Given the description of an element on the screen output the (x, y) to click on. 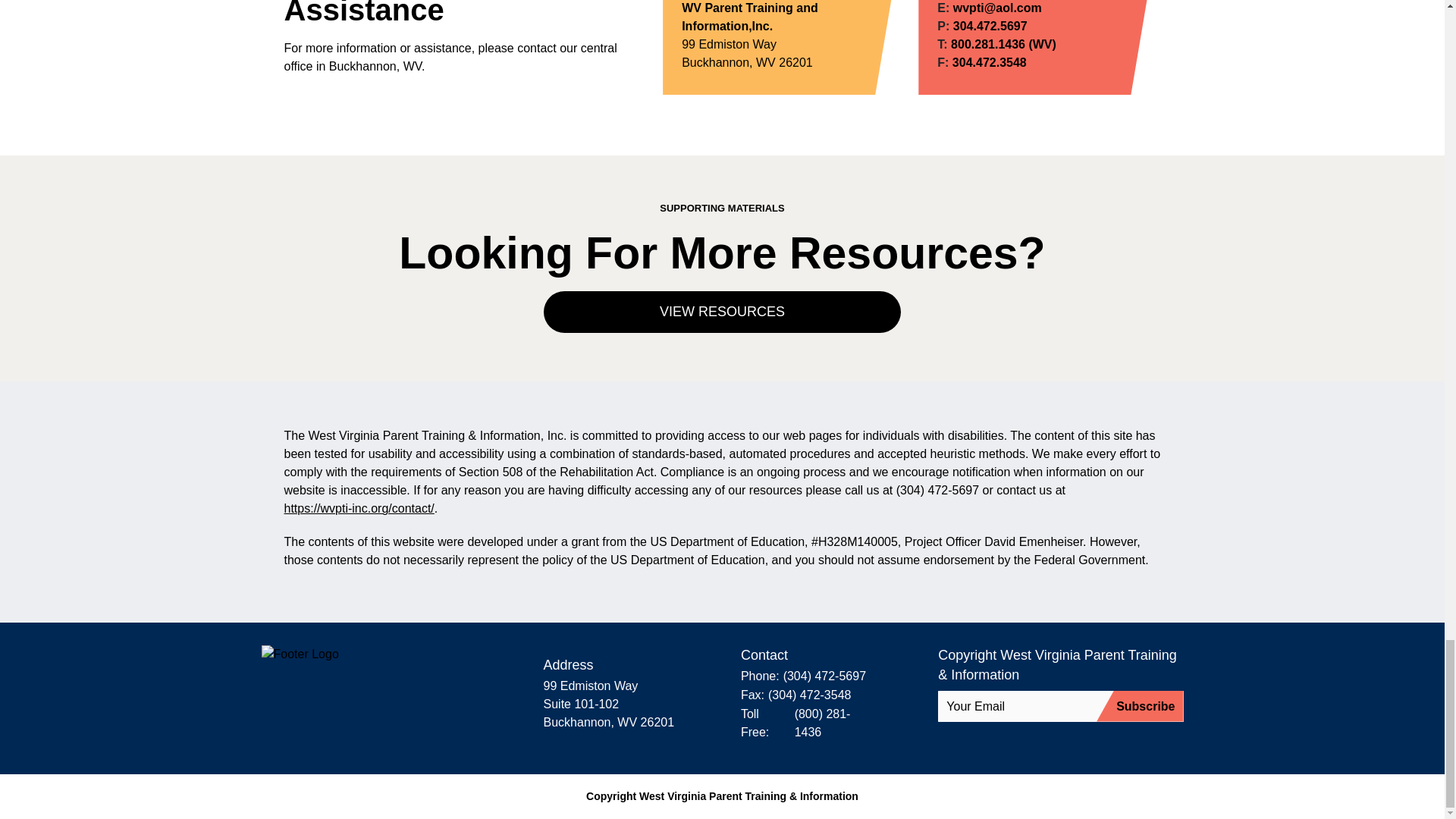
304.472.5697 (990, 26)
VIEW RESOURCES (721, 311)
Subscribe (1139, 706)
304.472.3548 (989, 63)
Subscribe (1139, 706)
